Given the description of an element on the screen output the (x, y) to click on. 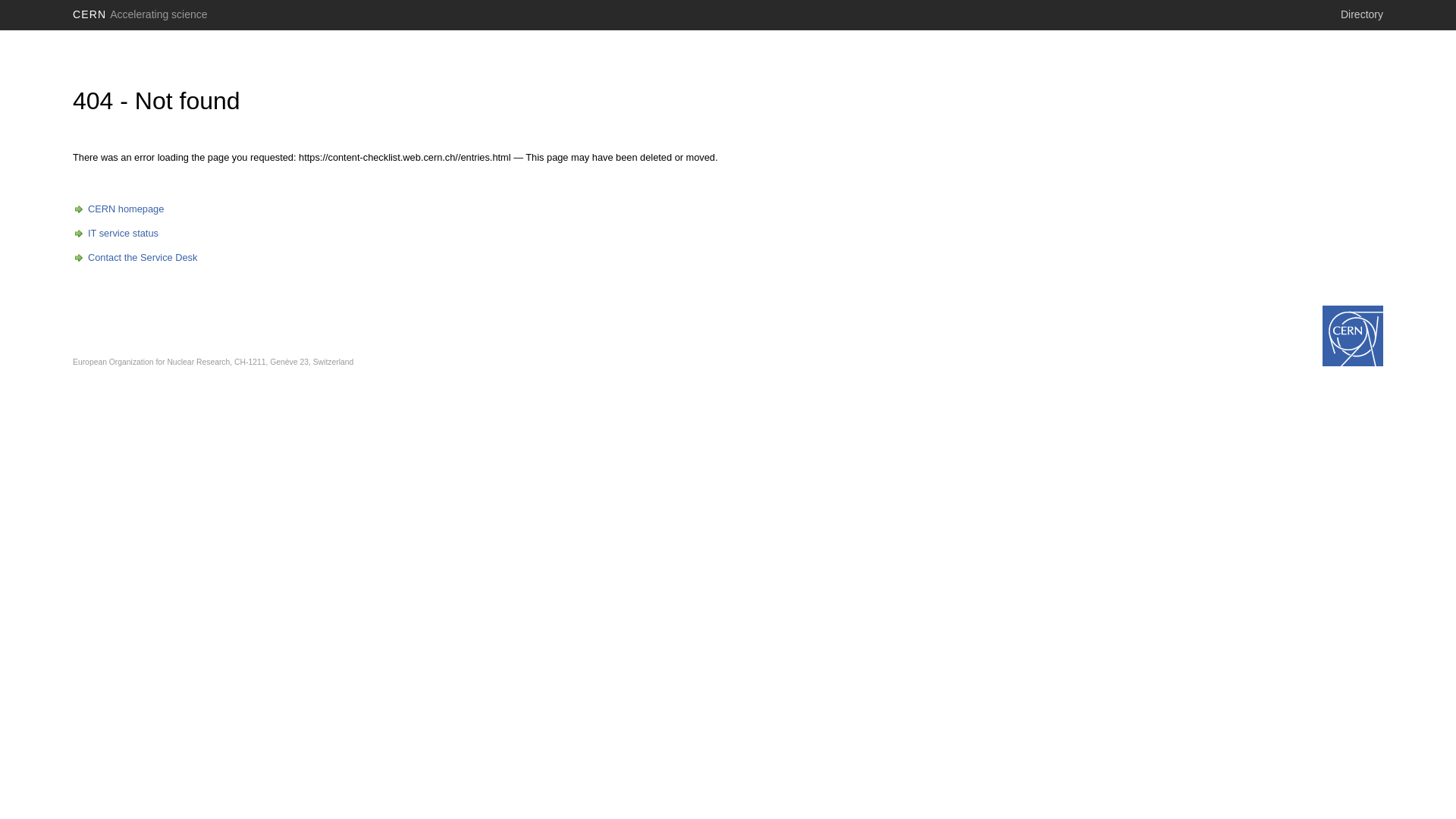
CERN Accelerating science Element type: text (139, 14)
IT service status Element type: text (115, 232)
Contact the Service Desk Element type: text (134, 257)
www.cern.ch Element type: hover (1352, 335)
CERN homepage Element type: text (117, 208)
Directory Element type: text (1361, 14)
